Given the description of an element on the screen output the (x, y) to click on. 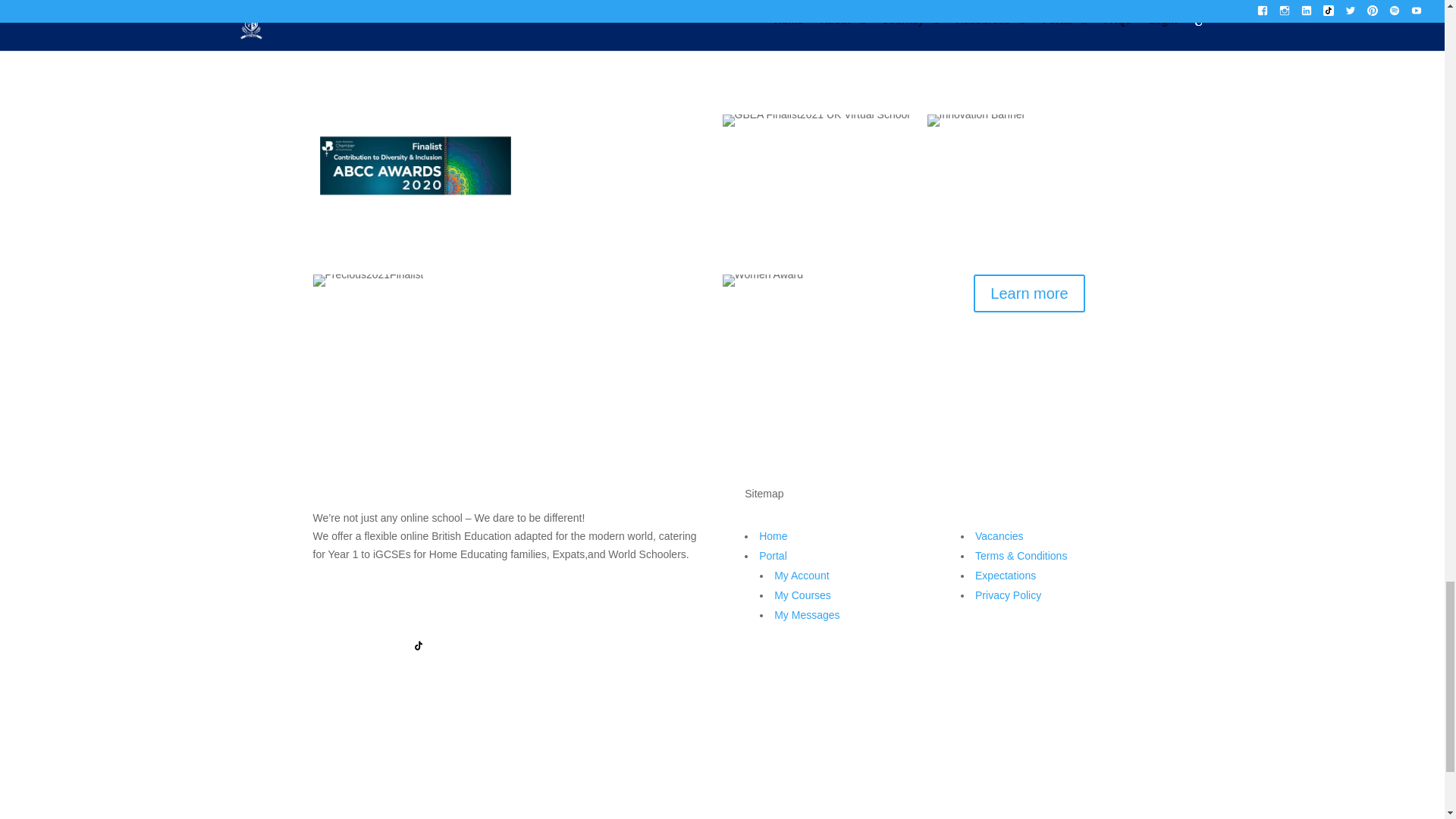
GBEAFinalist2021 UK Virtual School (815, 120)
ABCC Diversity (414, 165)
Precious2021Finalist (368, 280)
InnovationBanner (975, 120)
WomenAward (762, 280)
